Given the description of an element on the screen output the (x, y) to click on. 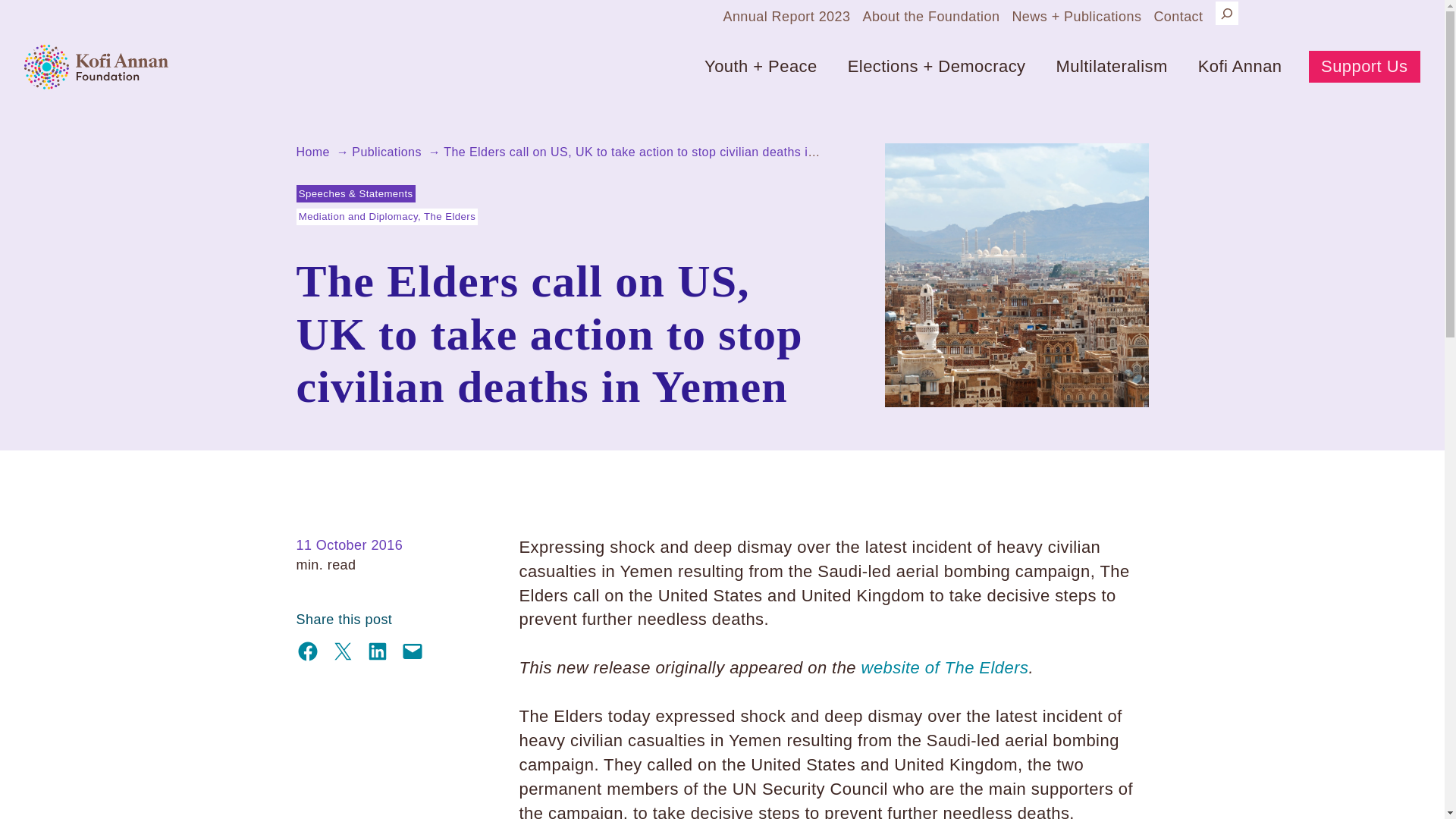
About the Foundation (929, 16)
Contact (1177, 16)
Annual Report 2023 (786, 16)
